Given the description of an element on the screen output the (x, y) to click on. 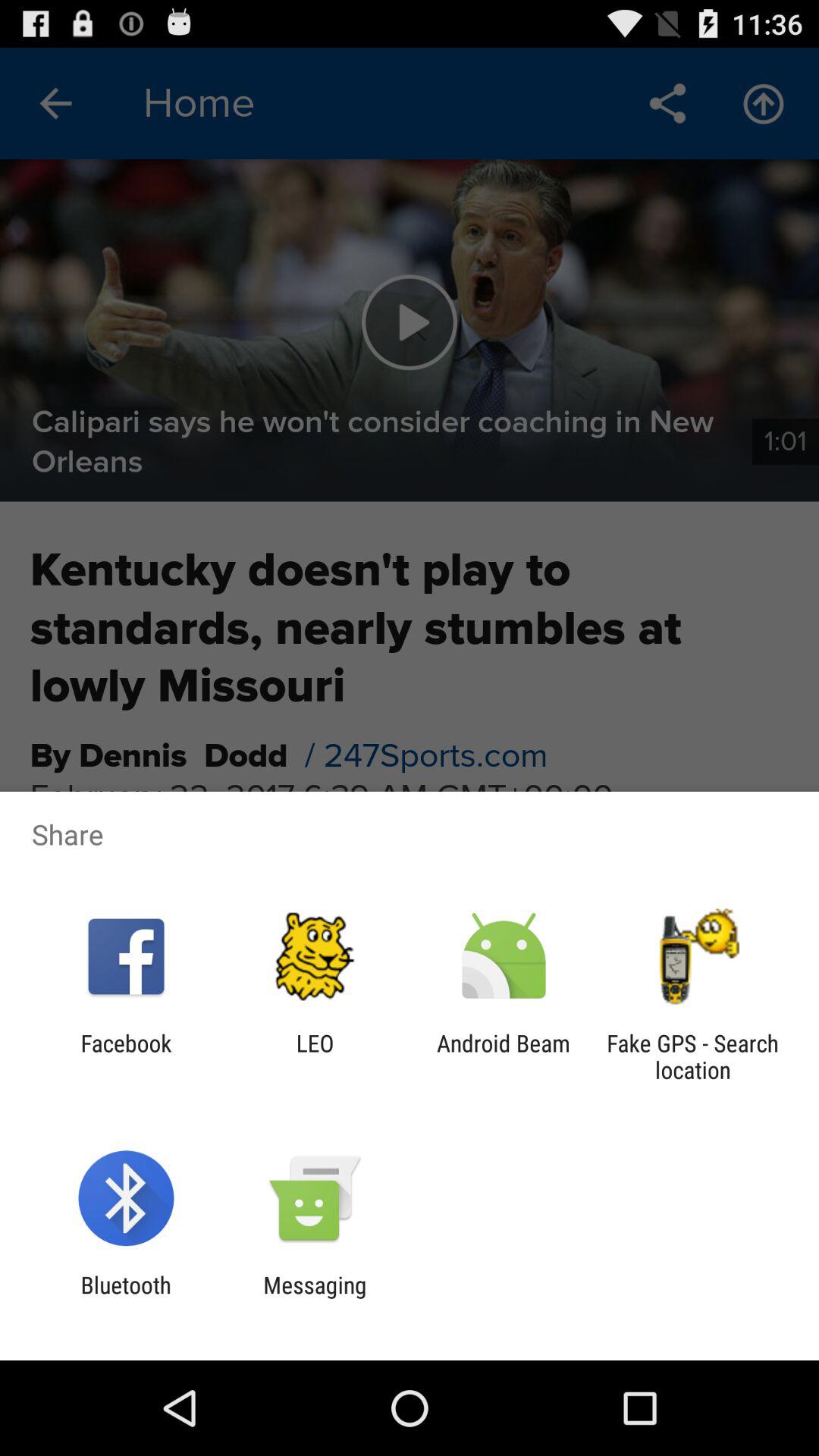
click the icon to the left of leo icon (125, 1056)
